Given the description of an element on the screen output the (x, y) to click on. 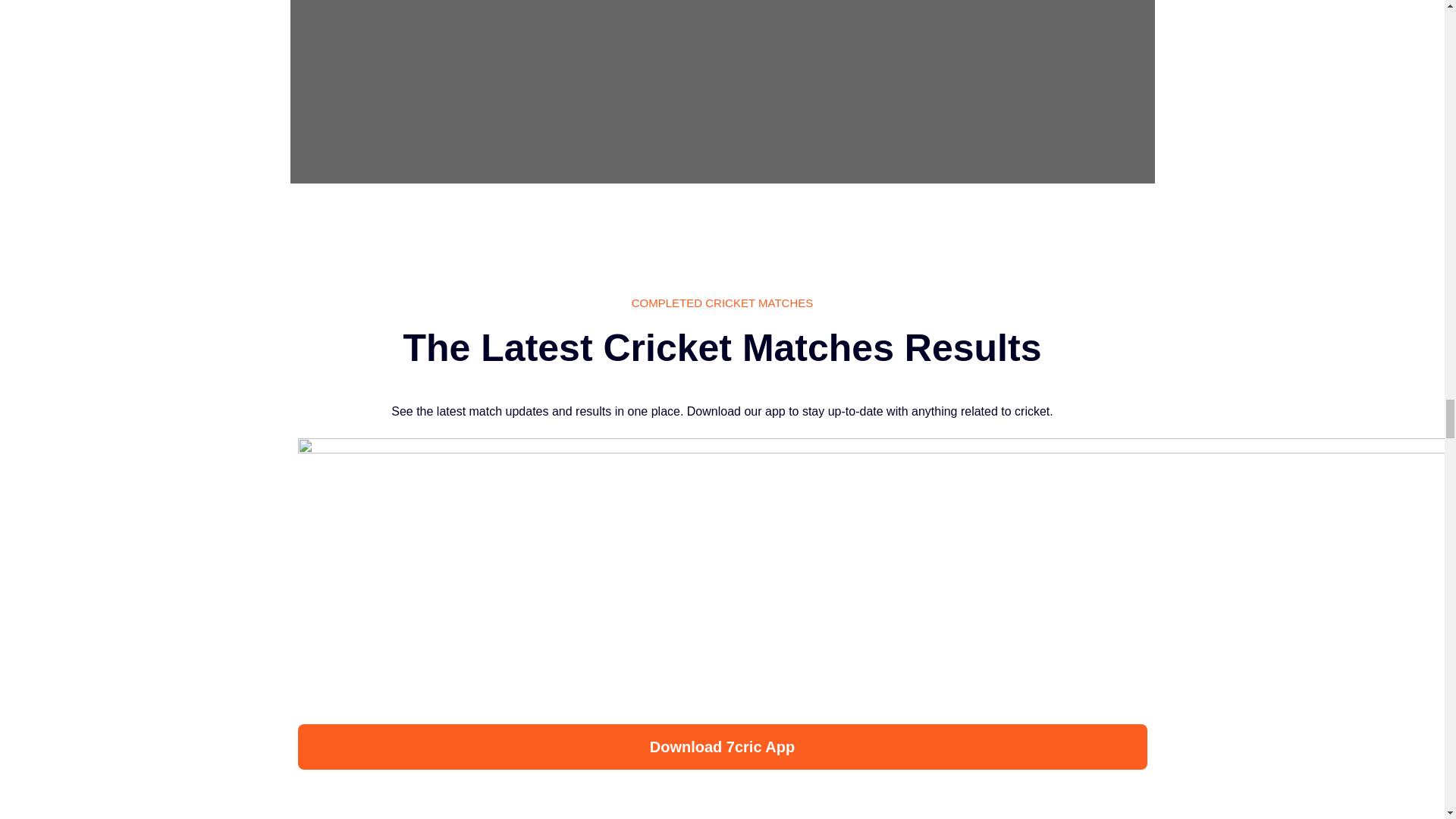
Download 7cric App (722, 746)
